Given the description of an element on the screen output the (x, y) to click on. 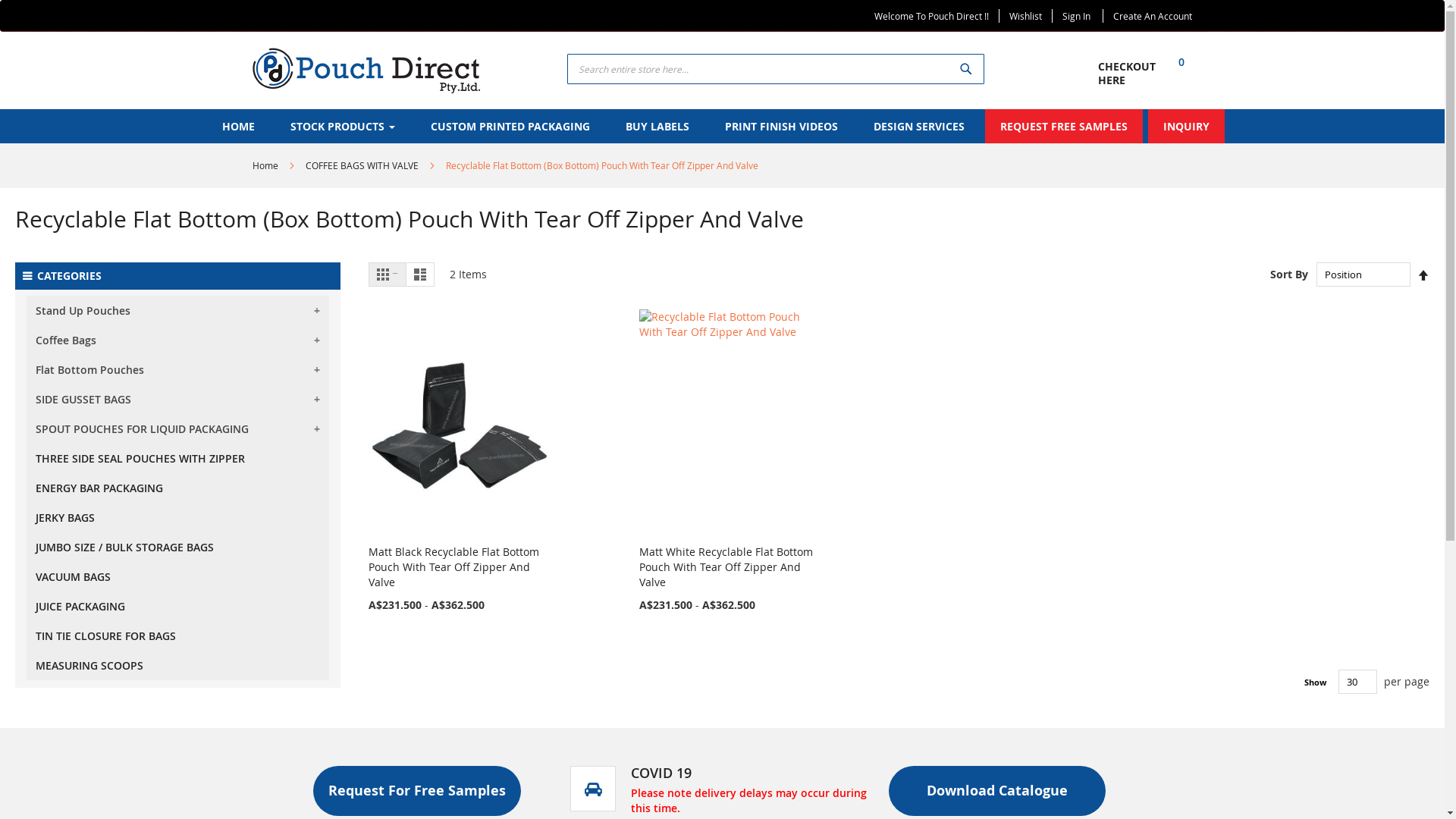
THREE SIDE SEAL POUCHES WITH ZIPPER Element type: text (177, 456)
Search Element type: text (965, 68)
ENERGY BAR PACKAGING Element type: text (177, 487)
HOME Element type: text (237, 126)
JUMBO SIZE / BULK STORAGE BAGS Element type: text (177, 545)
Set Descending Direction Element type: text (1423, 275)
TIN TIE CLOSURE FOR BAGS Element type: text (177, 634)
CHECKOUT HERE 0 Element type: text (1145, 79)
DESIGN SERVICES Element type: text (918, 126)
Home Element type: text (264, 165)
JUICE PACKAGING Element type: text (177, 604)
CUSTOM PRINTED PACKAGING Element type: text (510, 126)
Flat Bottom Pouches Element type: text (177, 369)
List Element type: text (419, 274)
PRINT FINISH VIDEOS Element type: text (781, 126)
SIDE GUSSET BAGS Element type: text (177, 399)
JUICE PACKAGING Element type: text (177, 606)
TIN TIE CLOSURE FOR BAGS Element type: text (177, 635)
MEASURING SCOOPS Element type: text (177, 663)
THREE SIDE SEAL POUCHES WITH ZIPPER Element type: text (177, 458)
Skip to Content Element type: text (251, 8)
REQUEST FREE SAMPLES Element type: text (1063, 126)
Coffee Bags Element type: text (177, 339)
JERKY BAGS Element type: text (177, 517)
SPOUT POUCHES FOR LIQUID PACKAGING Element type: text (177, 428)
Stand Up Pouches Element type: text (177, 310)
STOCK PRODUCTS Element type: text (341, 126)
INQUIRY Element type: text (1186, 126)
BUY LABELS Element type: text (656, 126)
Sign In Element type: text (1075, 15)
VACUUM BAGS Element type: text (177, 574)
Wishlist Element type: text (1024, 15)
COFFEE BAGS WITH VALVE Element type: text (360, 165)
Pouch Direct Element type: hover (365, 70)
JERKY BAGS Element type: text (177, 515)
ENERGY BAR PACKAGING Element type: text (177, 486)
Create An Account Element type: text (1152, 15)
JUMBO SIZE / BULK STORAGE BAGS Element type: text (177, 546)
VACUUM BAGS Element type: text (177, 576)
MEASURING SCOOPS Element type: text (177, 665)
